Given the description of an element on the screen output the (x, y) to click on. 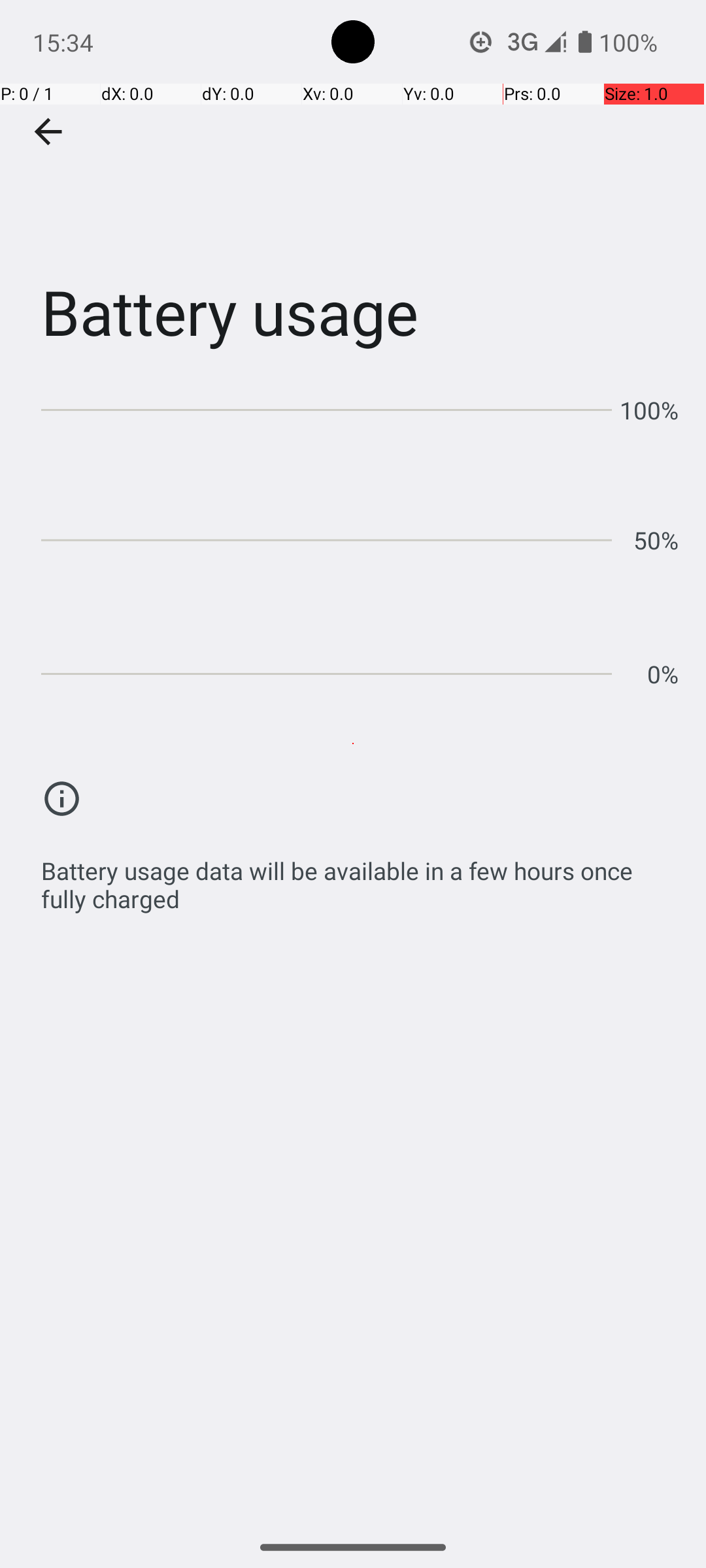
Battery usage Element type: android.widget.FrameLayout (353, 195)
Hourly battery usage chart Element type: android.widget.ImageView (359, 536)
Battery usage data will be available in a few hours once fully charged Element type: android.widget.TextView (359, 877)
